Given the description of an element on the screen output the (x, y) to click on. 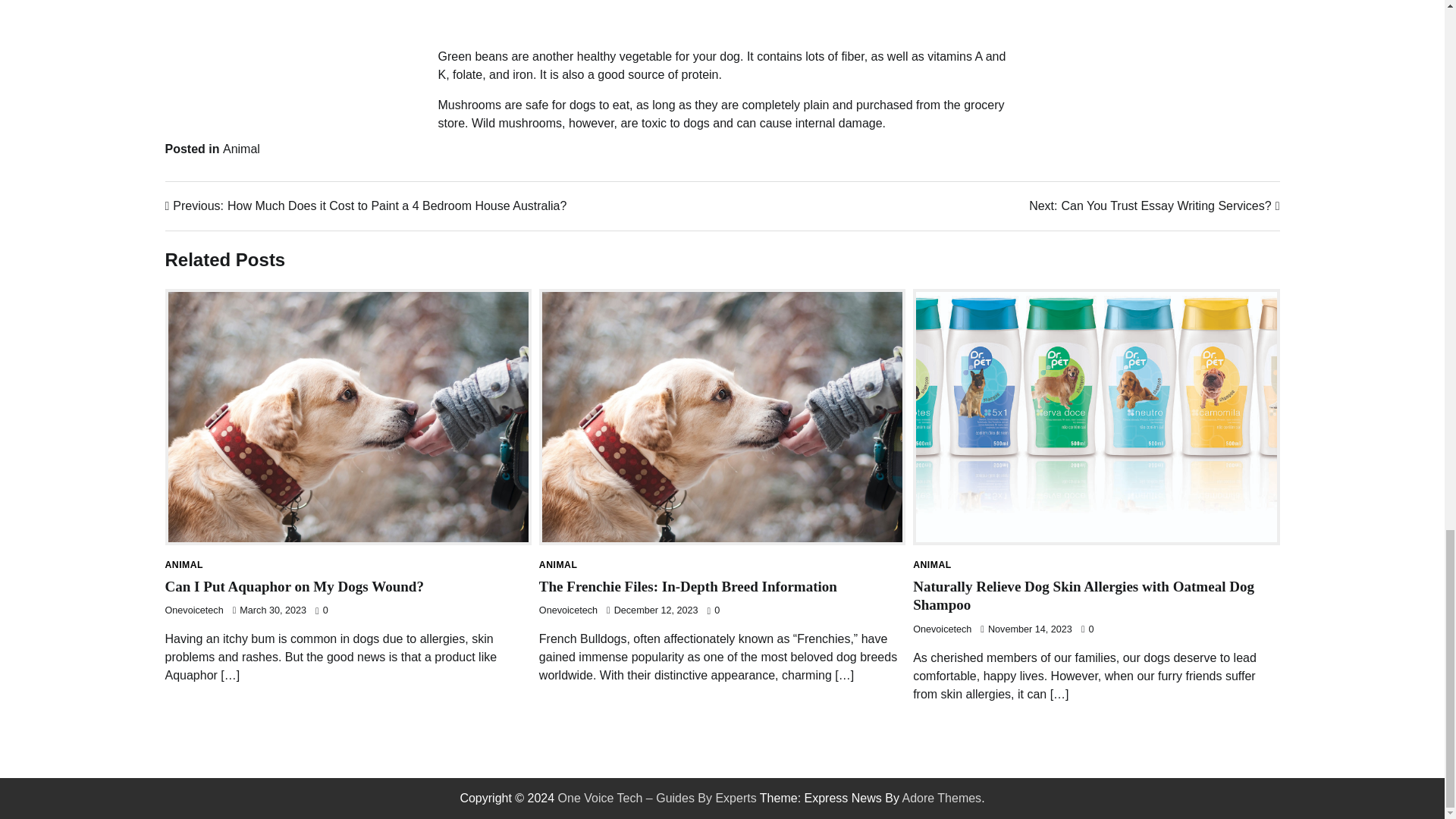
Adore Themes (941, 797)
How to Settle a Dog's Stomach - 4 Most Effective Methods (680, 15)
Onevoicetech (1154, 206)
Can I Put Aquaphor on My Dogs Wound? (567, 610)
The Frenchie Files: In-Depth Breed Information (294, 586)
ANIMAL (687, 586)
ANIMAL (184, 564)
